Given the description of an element on the screen output the (x, y) to click on. 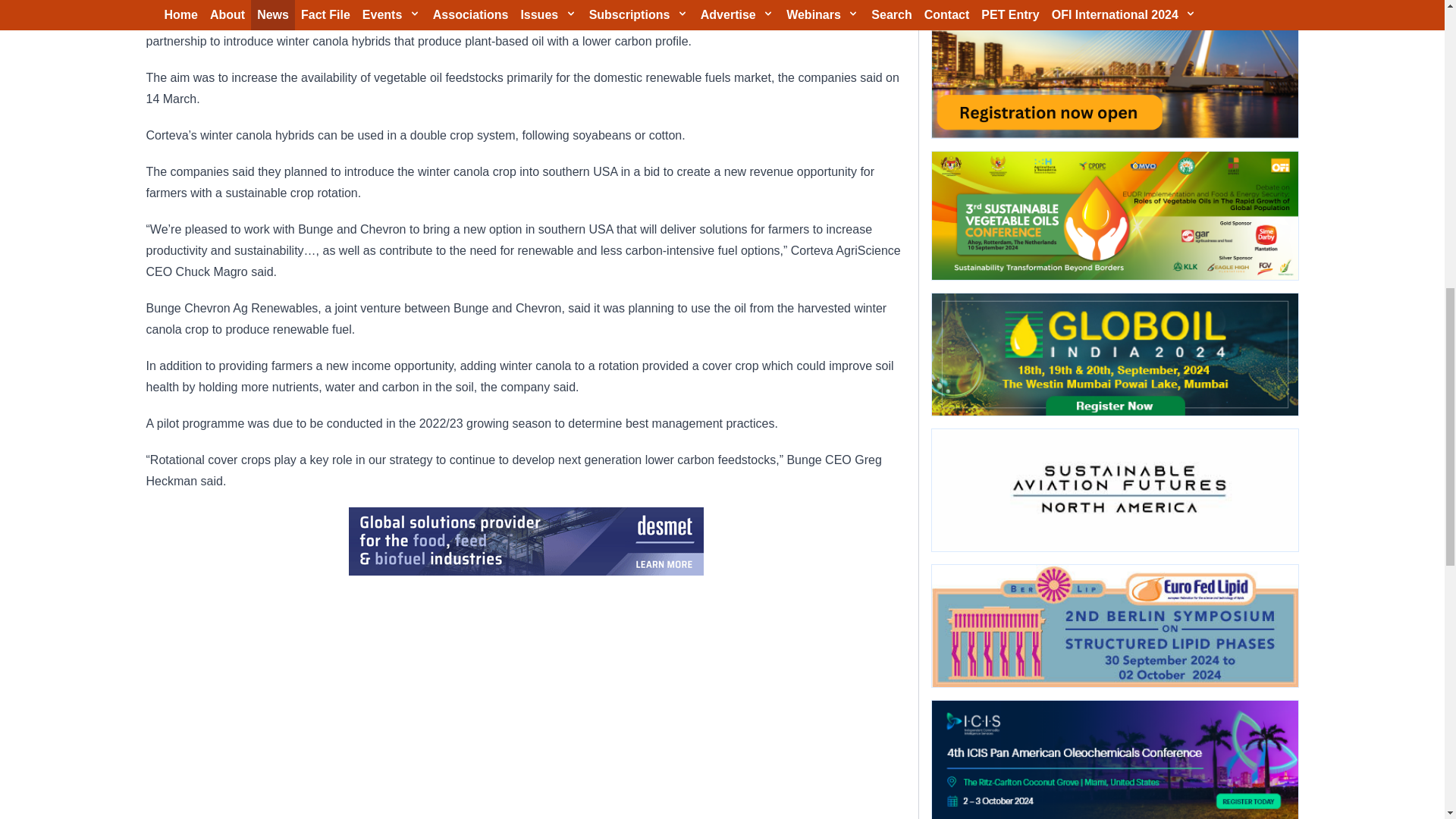
Globoil 2024 (1114, 354)
2nd Berlin Symposium 2024 (1114, 626)
Desmet 2022-4 footer banner (525, 540)
Sustainable Aviation Futures North America Congress (1114, 490)
3rd Sustainable Vegetable Oil Conference (1114, 215)
OFI International 2024 (1114, 69)
ICIS Pan American Oleochemicals Conference (1114, 760)
